Given the description of an element on the screen output the (x, y) to click on. 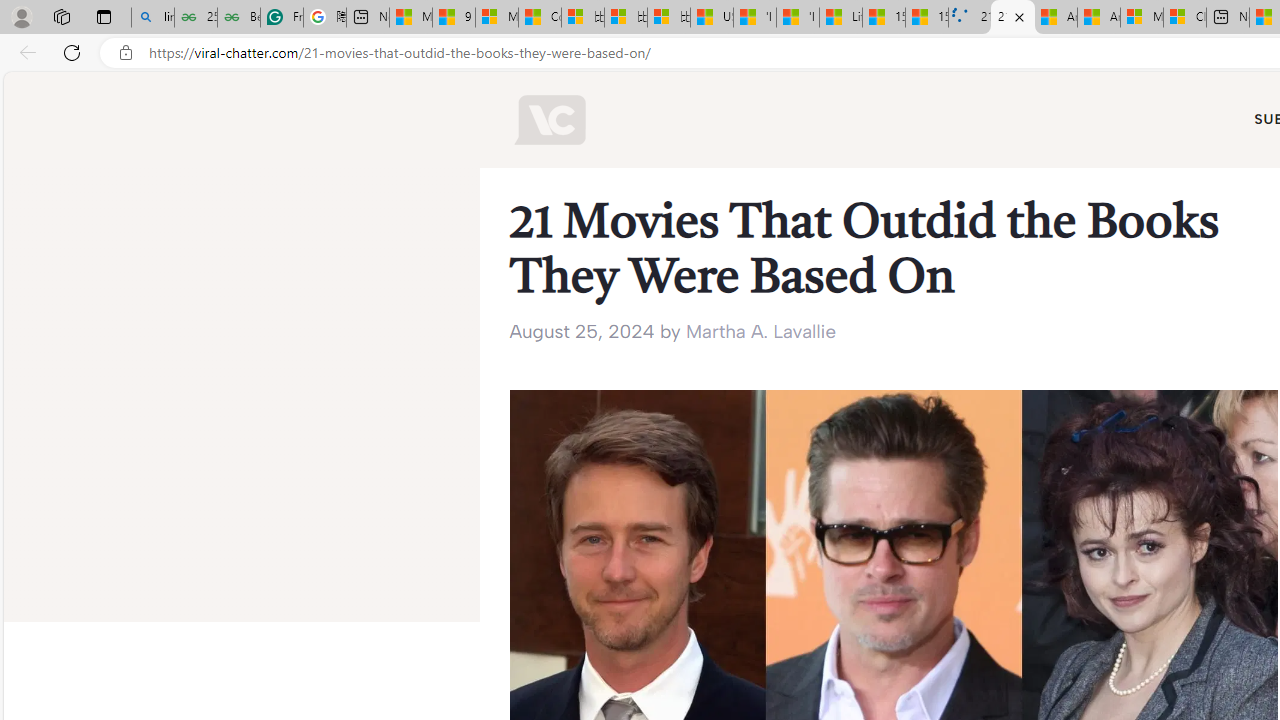
linux basic - Search (152, 17)
Viral Chatter (549, 120)
15 Ways Modern Life Contradicts the Teachings of Jesus (927, 17)
Best SSL Certificates Provider in India - GeeksforGeeks (238, 17)
25 Basic Linux Commands For Beginners - GeeksforGeeks (196, 17)
Viral Chatter (549, 120)
Free AI Writing Assistance for Students | Grammarly (282, 17)
